Given the description of an element on the screen output the (x, y) to click on. 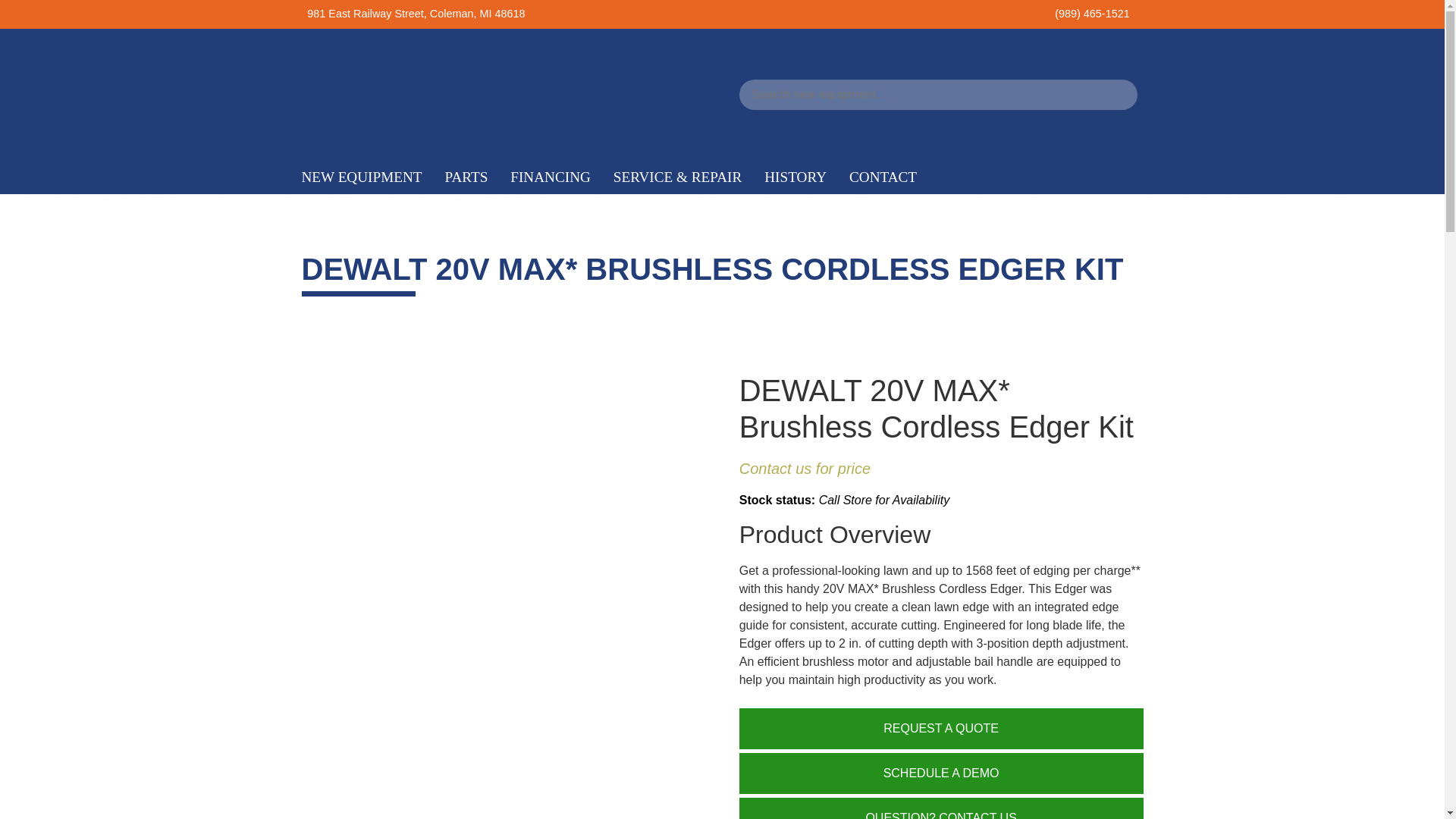
HISTORY (795, 177)
REQUEST A QUOTE (940, 728)
Search (32, 15)
981 East Railway Street, Coleman, MI 48618 (415, 13)
PARTS (466, 177)
FINANCING (550, 177)
QUESTION? CONTACT US (940, 808)
CONTACT (883, 177)
NEW EQUIPMENT (360, 177)
SCHEDULE A DEMO (940, 772)
